Given the description of an element on the screen output the (x, y) to click on. 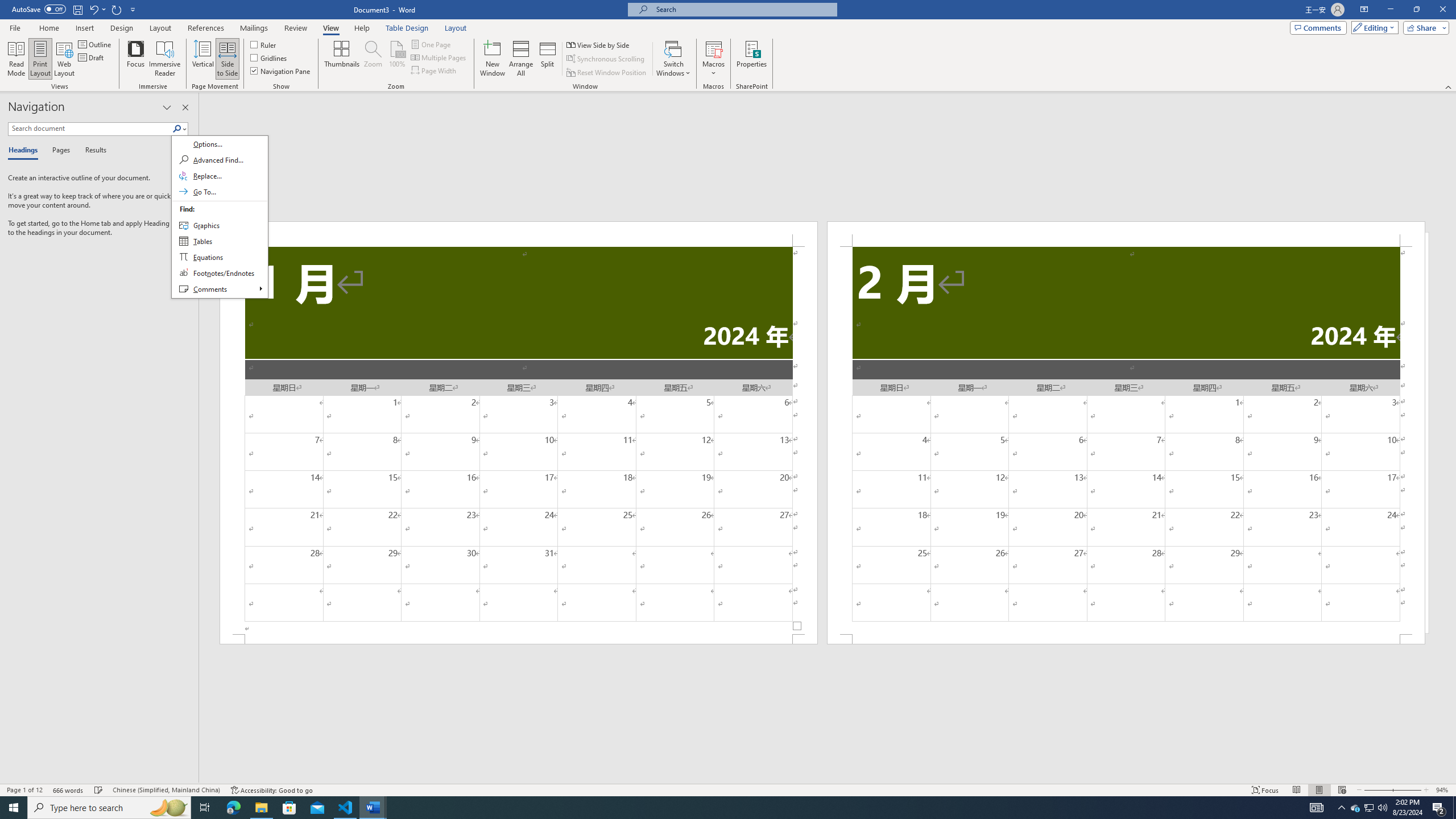
Microsoft search (742, 9)
Q2790: 100% (1382, 807)
Side to Side (226, 58)
